Given the description of an element on the screen output the (x, y) to click on. 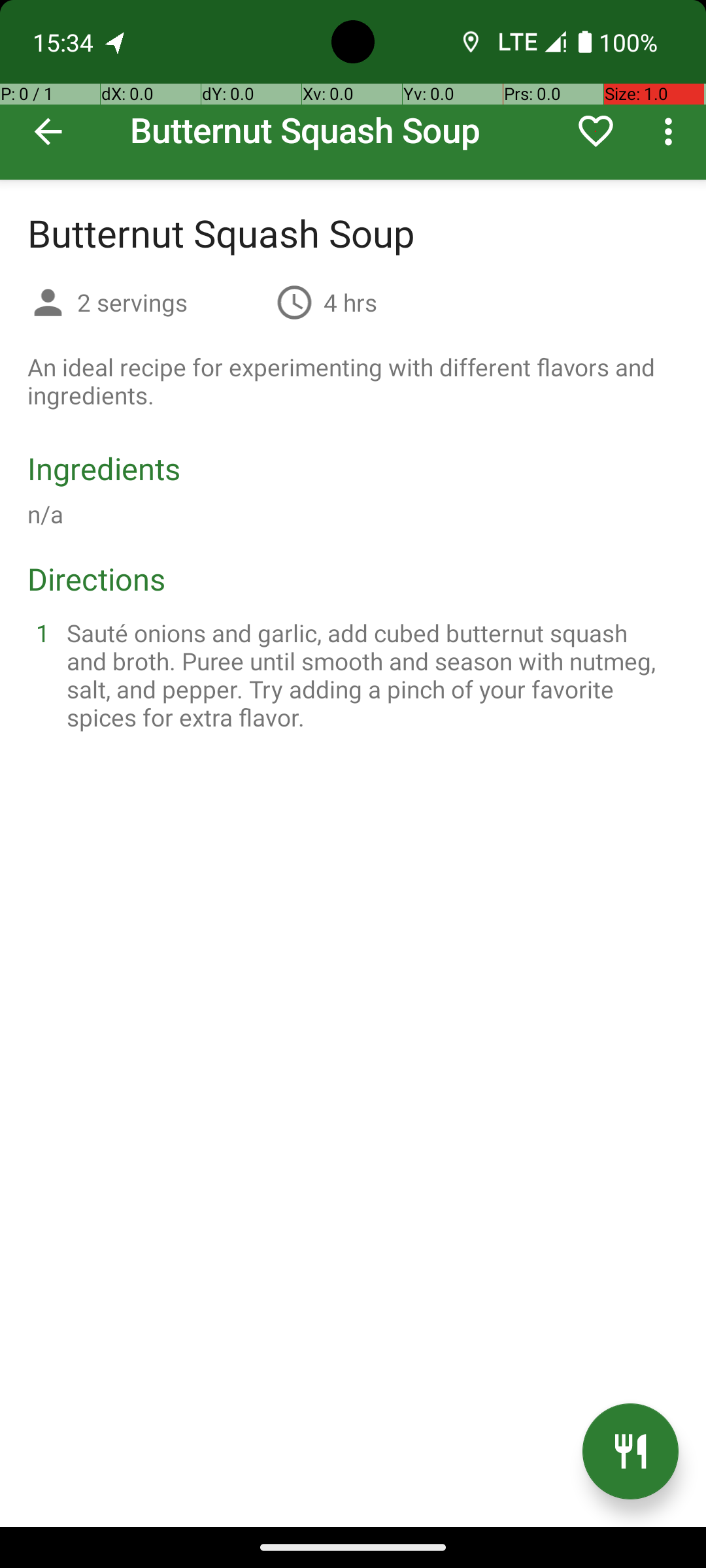
Sauté onions and garlic, add cubed butternut squash and broth. Puree until smooth and season with nutmeg, salt, and pepper. Try adding a pinch of your favorite spices for extra flavor. Element type: android.widget.TextView (368, 674)
OpenTracks notification:  Element type: android.widget.ImageView (115, 41)
